Given the description of an element on the screen output the (x, y) to click on. 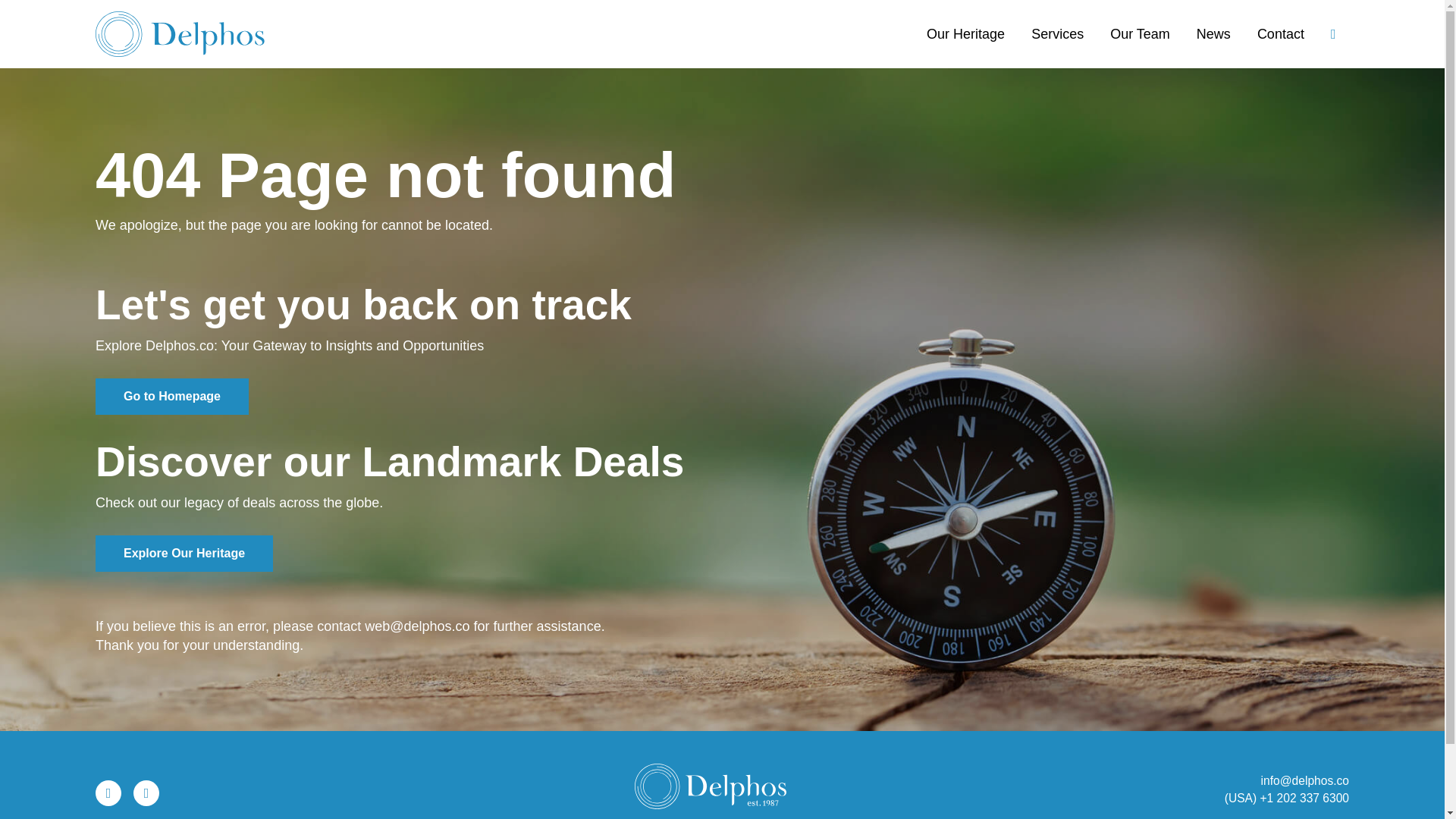
Asset 8 (180, 33)
Go to Homepage (172, 396)
Asset 8 (180, 28)
Contact (1280, 28)
Services (1057, 28)
Our Team (1140, 28)
Explore Our Heritage (184, 553)
News (1212, 28)
Our Heritage (965, 28)
